Given the description of an element on the screen output the (x, y) to click on. 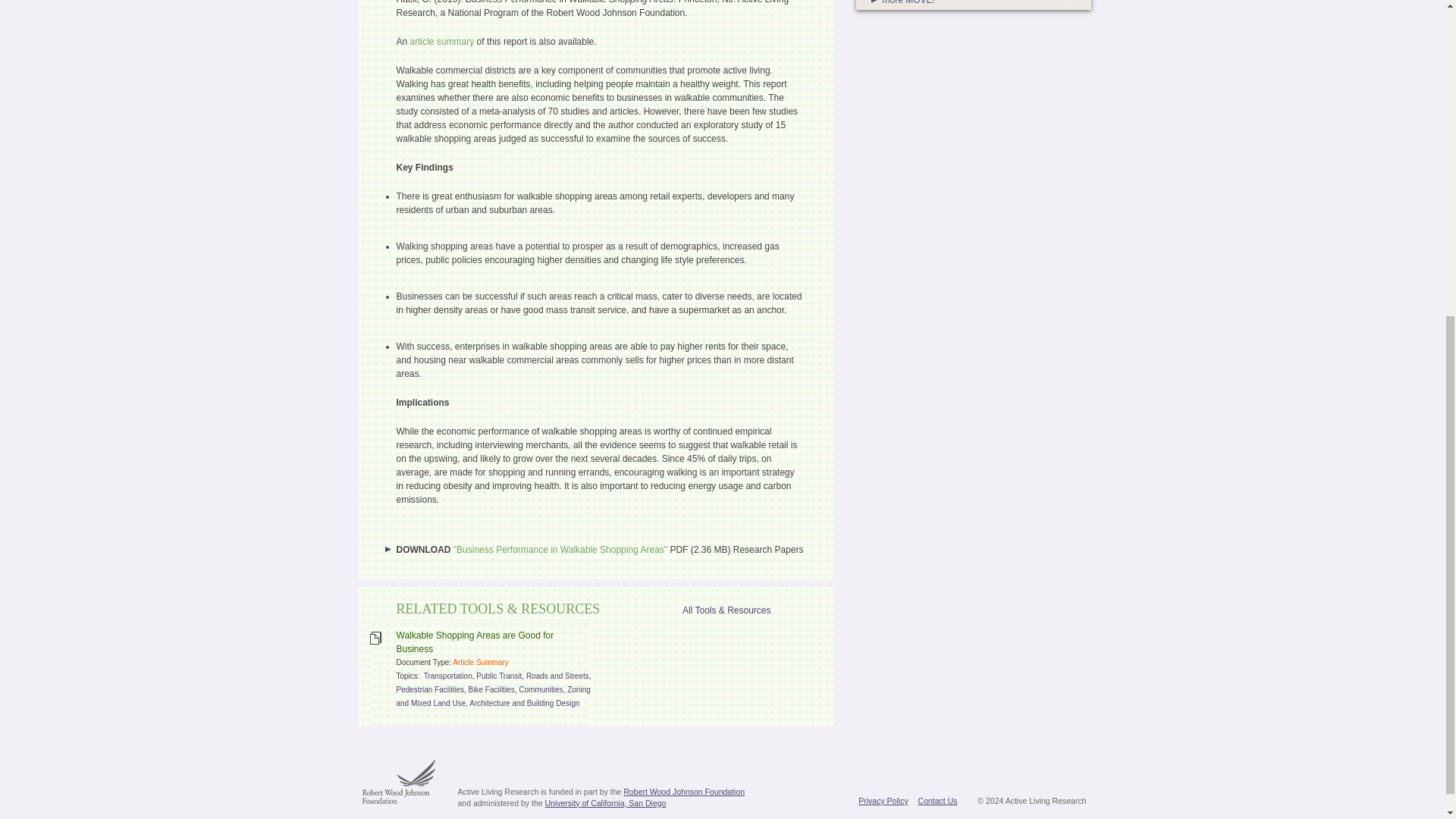
Walkable Shopping Areas are Good for Business (474, 641)
article summary (442, 41)
"Business Performance in Walkable Shopping Areas" (559, 549)
